Given the description of an element on the screen output the (x, y) to click on. 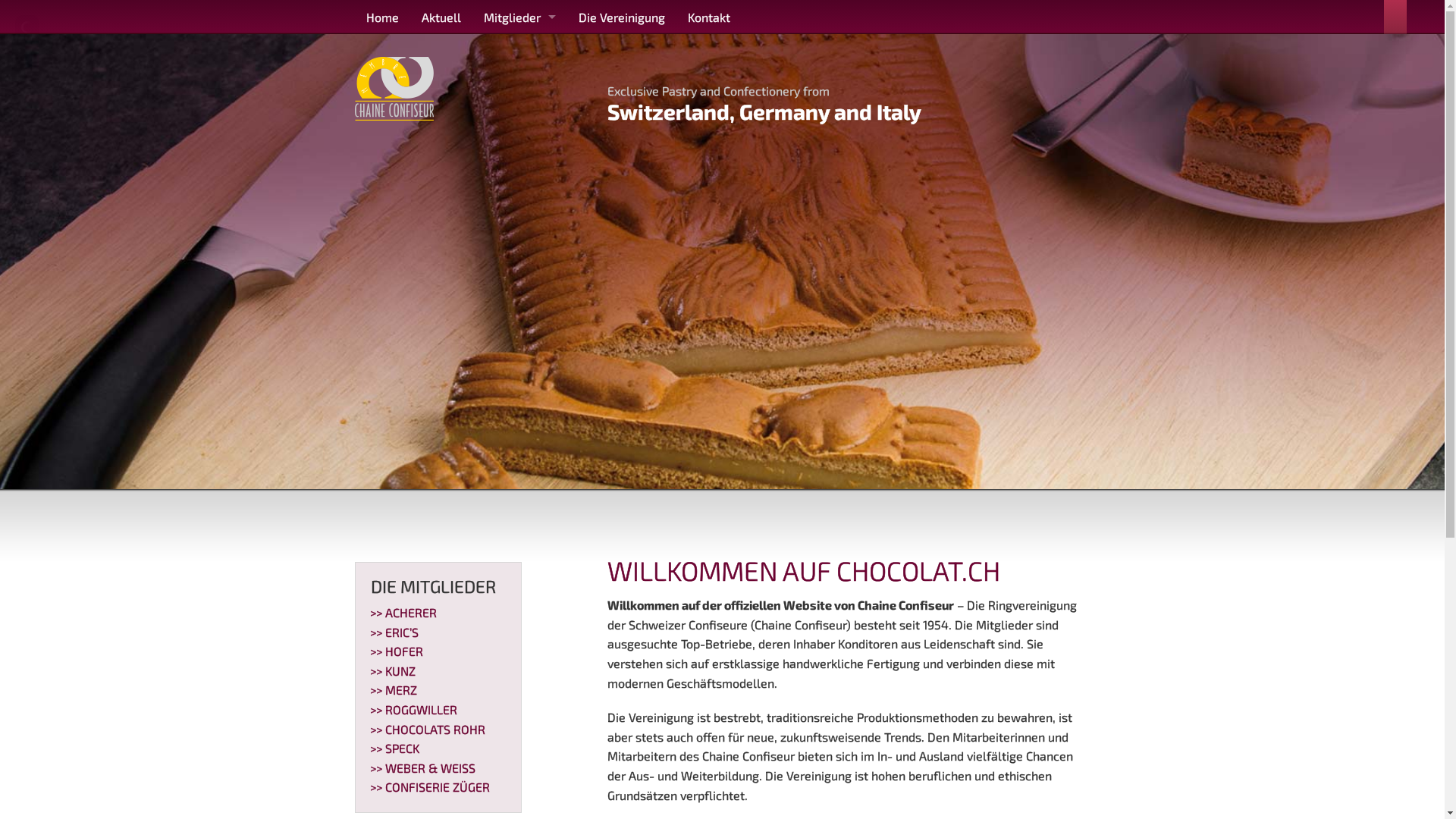
>> KUNZ Element type: text (392, 670)
Confiserie Roggwiller (CH) Element type: text (518, 221)
>> MERZ Element type: text (393, 689)
>> WEBER & WEISS Element type: text (422, 767)
>> CHOCOLATS ROHR Element type: text (427, 728)
Aktuell Element type: text (440, 17)
Chocolats Rohr (CH) Element type: text (518, 255)
Die Vereinigung Element type: text (621, 17)
>> ACHERER Element type: text (403, 612)
Confiserie Speck (CH) Element type: text (518, 290)
>> HOFER Element type: text (396, 650)
Confiserie Hofer (CH) Element type: text (518, 119)
Acherer Patisserie.Blumen (IT) Element type: text (518, 51)
kunz AG art of sweets (CH) Element type: text (518, 153)
>> SPECK Element type: text (394, 747)
>> ROGGWILLER Element type: text (413, 709)
Home Element type: text (382, 17)
Mitglieder Element type: text (518, 17)
Confiserie Weber & Weiss (D) Element type: text (518, 324)
Chaine Confiseur Element type: hover (393, 86)
Confiserie Baumann (CH) Element type: text (518, 85)
Confiserie Merz (CH) Element type: text (518, 187)
Kontakt Element type: text (708, 17)
